Given the description of an element on the screen output the (x, y) to click on. 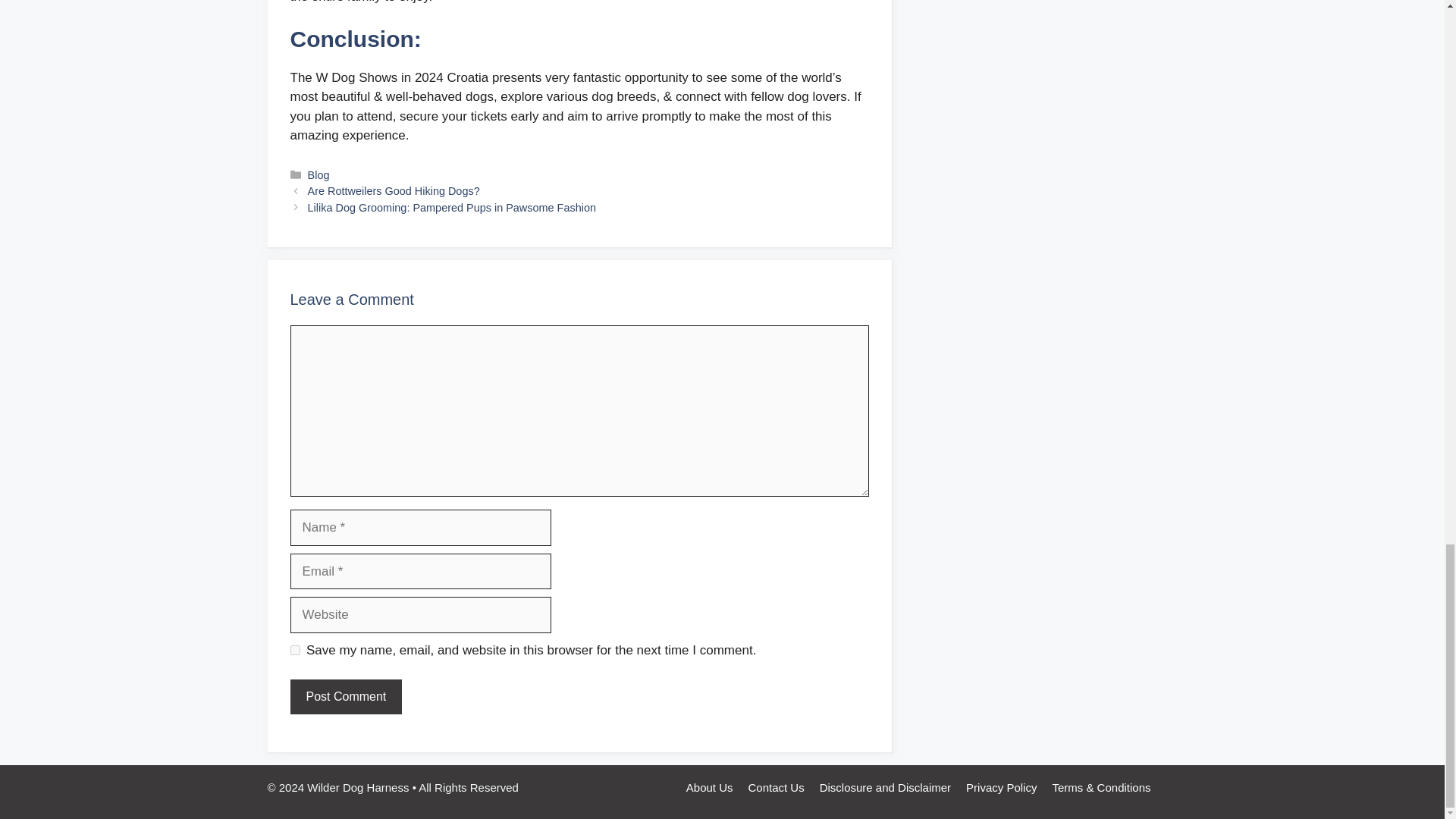
Post Comment (345, 696)
Blog (318, 174)
Lilika Dog Grooming: Pampered Pups in Pawsome Fashion (451, 207)
yes (294, 650)
Are Rottweilers Good Hiking Dogs? (393, 191)
Post Comment (345, 696)
